Given the description of an element on the screen output the (x, y) to click on. 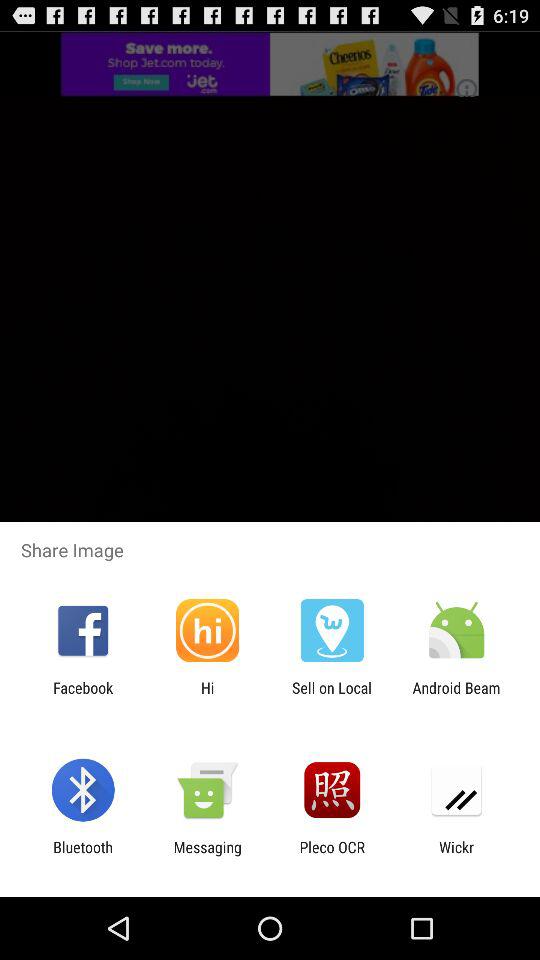
scroll until the android beam icon (456, 696)
